Given the description of an element on the screen output the (x, y) to click on. 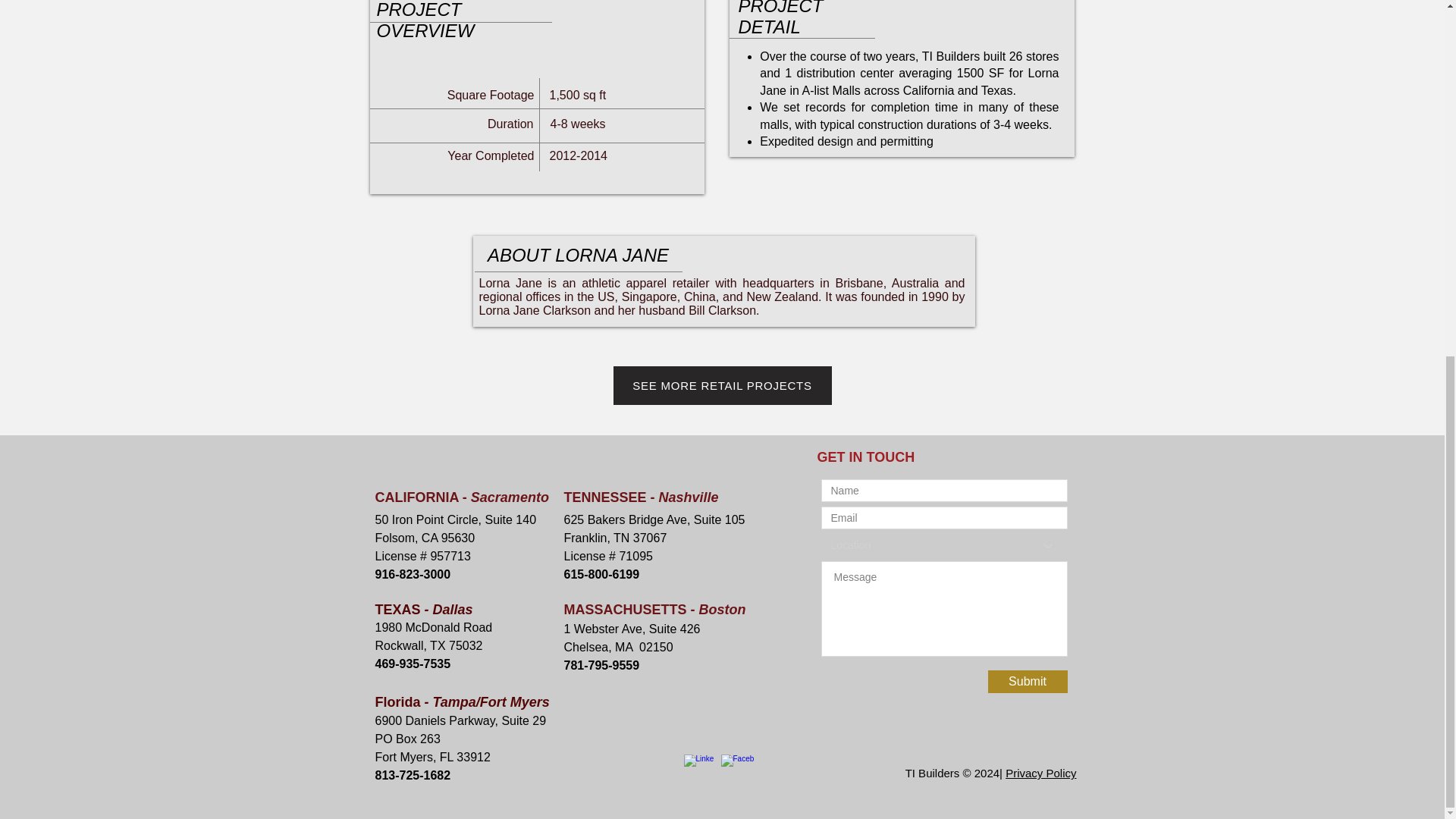
SEE MORE RETAIL PROJECTS (721, 385)
Privacy Policy (1040, 772)
Submit (1027, 681)
